Given the description of an element on the screen output the (x, y) to click on. 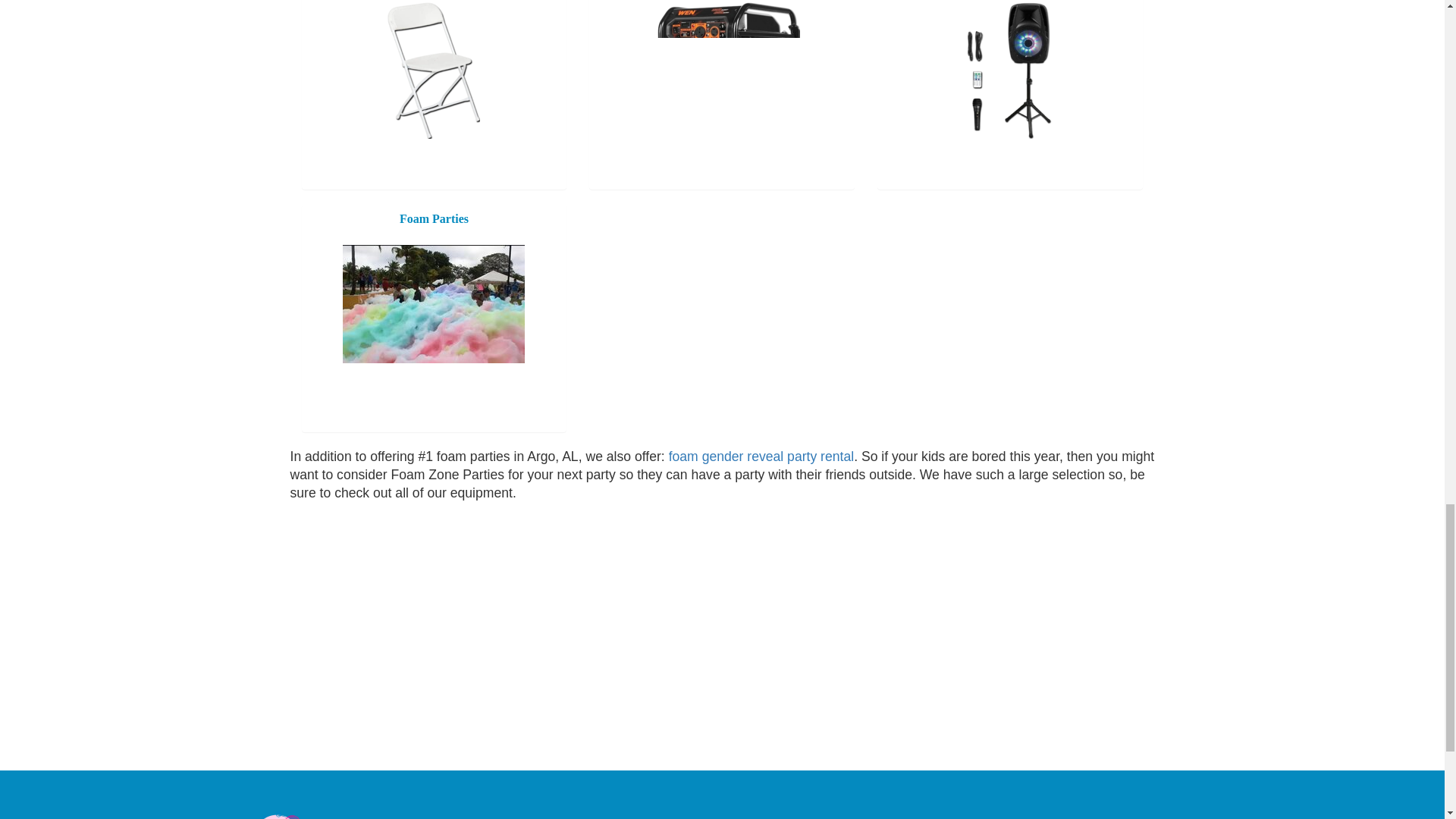
Foam Parties (433, 303)
foam gender reveal party rental (761, 456)
Equipment (722, 70)
